Given the description of an element on the screen output the (x, y) to click on. 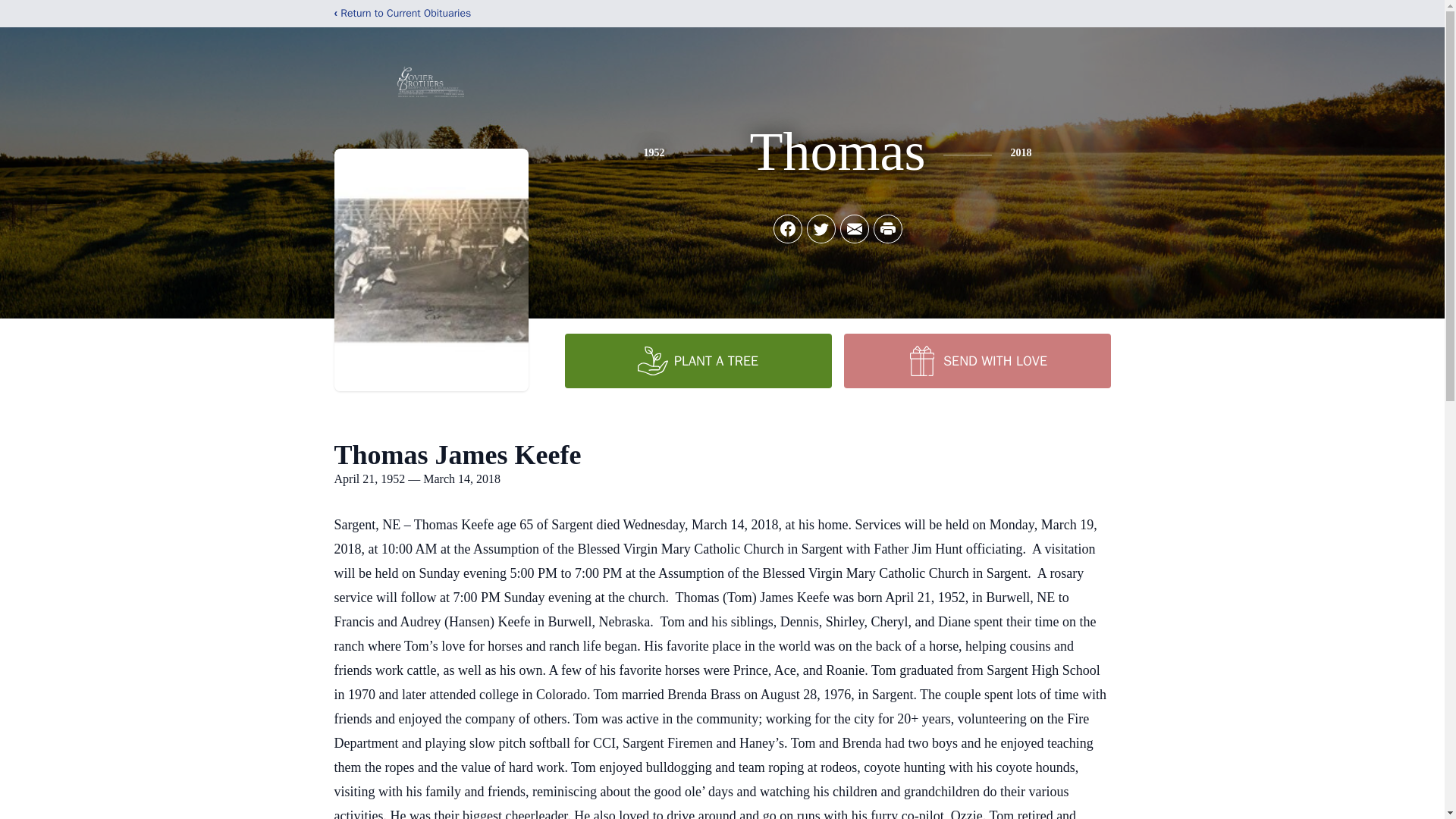
SEND WITH LOVE (976, 360)
PLANT A TREE (697, 360)
